Given the description of an element on the screen output the (x, y) to click on. 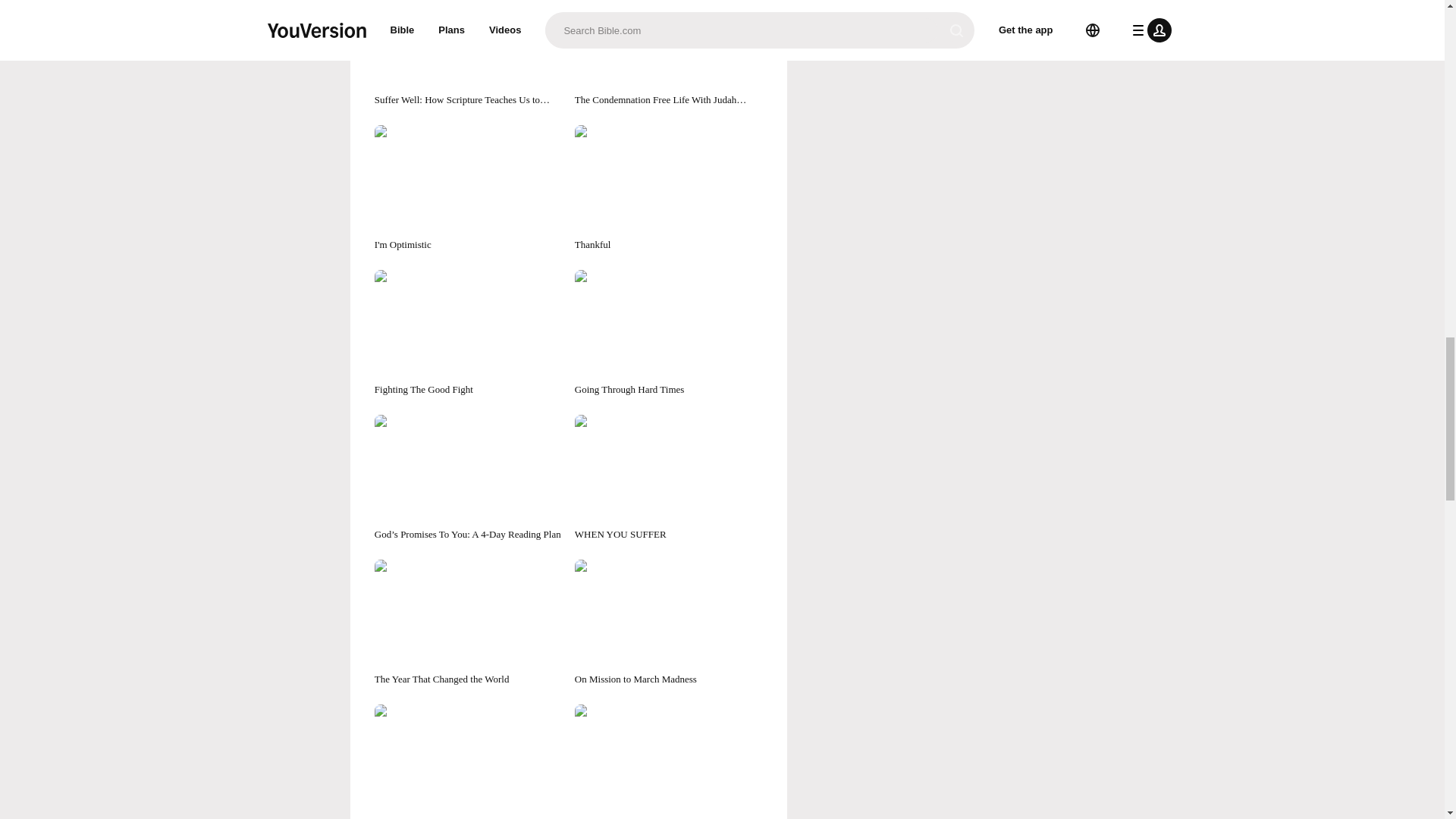
Fighting The Good Fight (468, 333)
Thankful (668, 188)
WHEN YOU SUFFER (668, 477)
I'm Optimistic (468, 188)
The Condemnation Free Life With Judah Lupisella (668, 53)
Going Through Hard Times (668, 333)
